Given the description of an element on the screen output the (x, y) to click on. 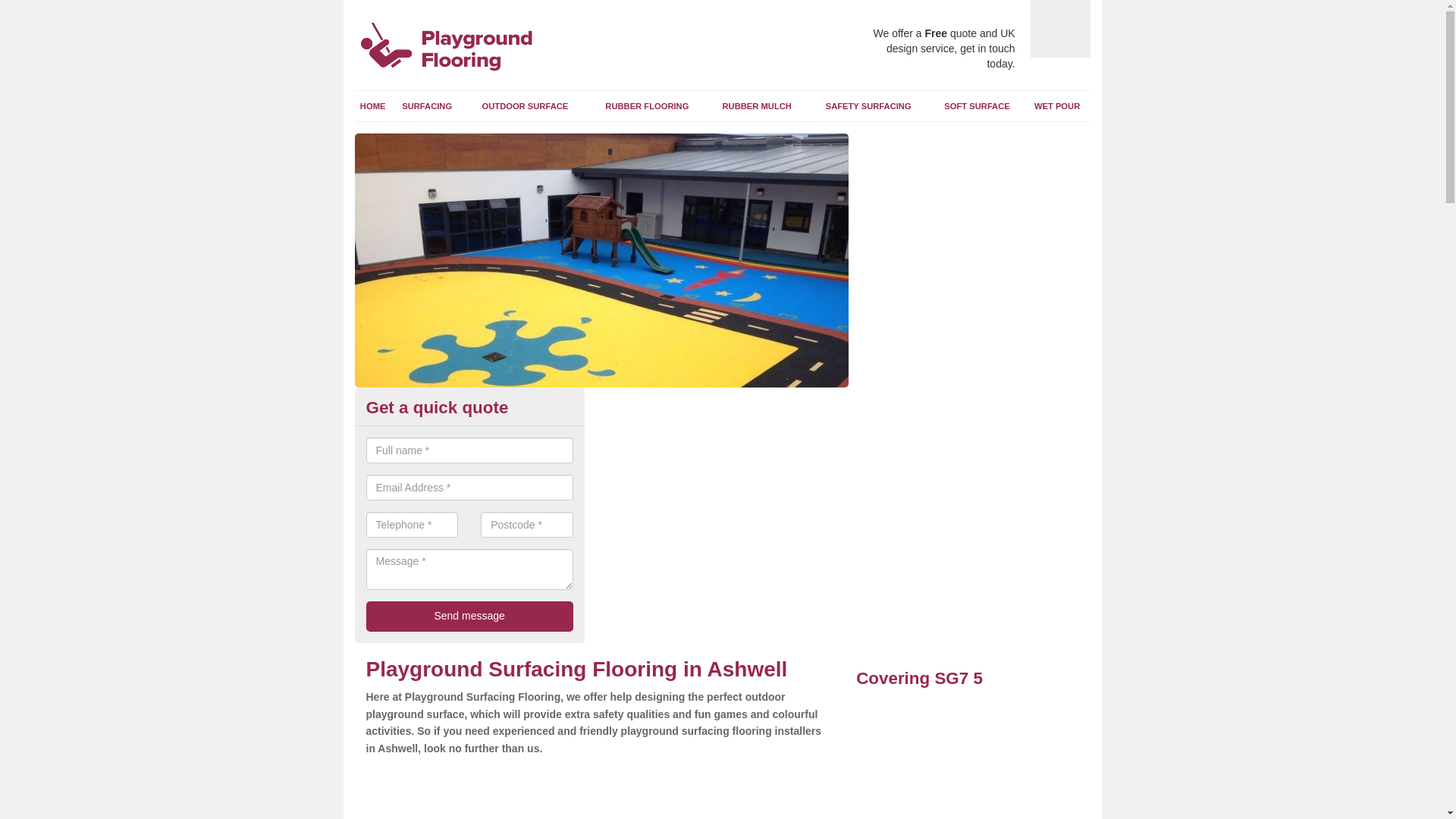
Send message (468, 616)
RUBBER MULCH (756, 105)
SAFETY SURFACING (868, 105)
RUBBER FLOORING (646, 105)
Header (468, 48)
HOME (373, 105)
SURFACING (427, 105)
WET POUR (1057, 105)
SOFT SURFACE (976, 105)
OUTDOOR SURFACE (525, 105)
Send message (468, 616)
